Given the description of an element on the screen output the (x, y) to click on. 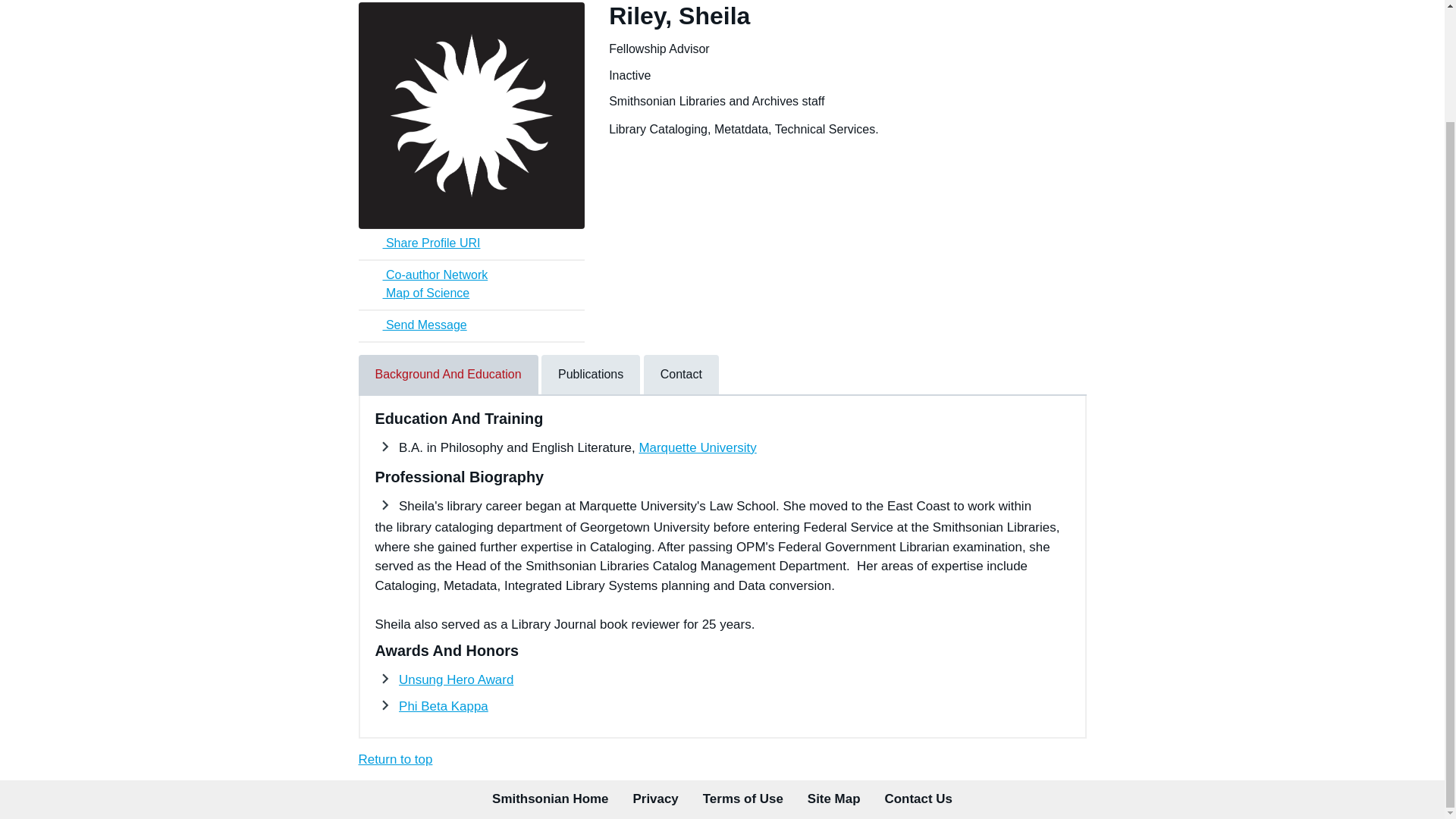
organization name (697, 447)
Phi Beta Kappa (442, 706)
map of science (471, 294)
Marquette University (697, 447)
Co-author Network (471, 275)
Publications (590, 373)
Return to top (395, 759)
award name (455, 679)
no image (471, 115)
Unsung Hero Award (455, 679)
award name (442, 706)
Background And Education (447, 373)
Share Profile URI (471, 244)
Map of Science (471, 294)
co-author (471, 275)
